Given the description of an element on the screen output the (x, y) to click on. 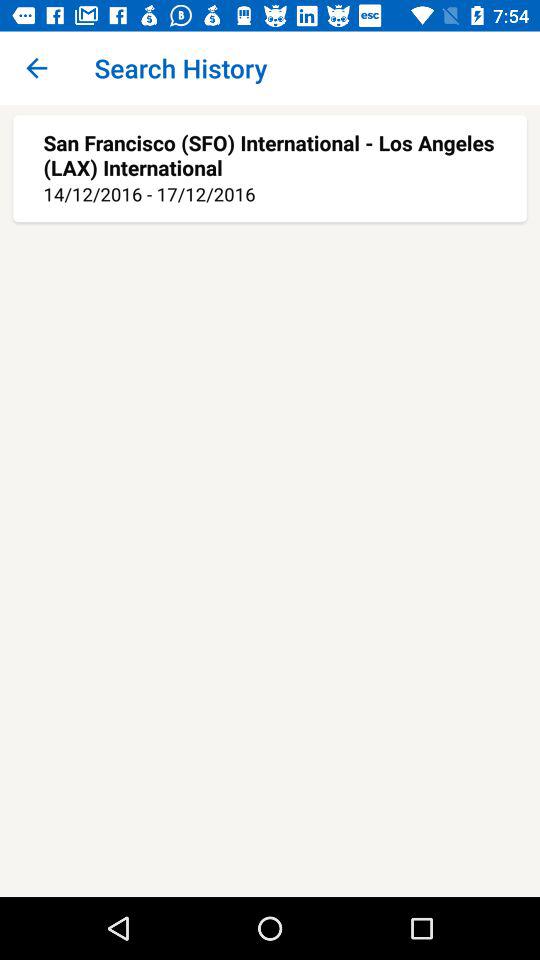
launch the item above the san francisco sfo item (36, 68)
